Given the description of an element on the screen output the (x, y) to click on. 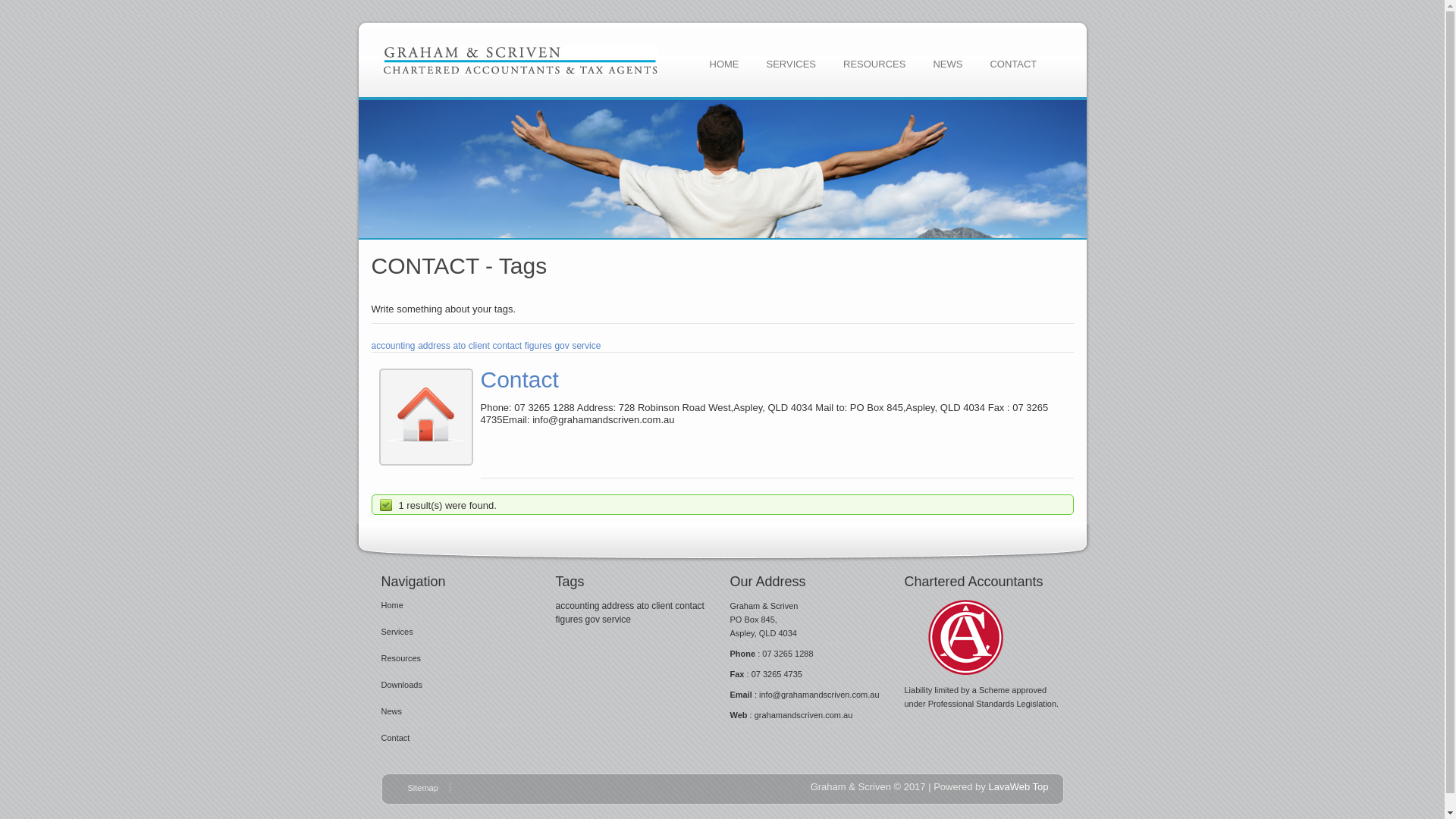
accounting Element type: text (577, 605)
HOME Element type: text (724, 64)
figures Element type: text (538, 345)
accounting Element type: text (393, 345)
NEWS Element type: text (947, 64)
News Element type: text (390, 710)
Resources Element type: text (400, 657)
Downloads Element type: text (400, 684)
ato Element type: text (642, 605)
service Element type: text (616, 619)
gov Element type: text (592, 619)
ato Element type: text (459, 345)
CONTACT Element type: text (1012, 64)
client Element type: text (478, 345)
grahamandscriven.com.au Element type: text (803, 714)
info@grahamandscriven.com.au Element type: text (819, 694)
SERVICES Element type: text (790, 64)
client Element type: text (661, 605)
contact Element type: text (506, 345)
figures Element type: text (568, 619)
Top Element type: text (1040, 786)
Contact Element type: text (519, 379)
RESOURCES Element type: text (874, 64)
Sitemap Element type: text (428, 787)
LavaWeb Element type: text (1008, 786)
service Element type: text (585, 345)
contact Element type: text (689, 605)
gov Element type: text (561, 345)
Home Element type: text (391, 604)
address Element type: text (618, 605)
Services Element type: text (396, 631)
address Element type: text (433, 345)
Contact Element type: text (394, 737)
